Given the description of an element on the screen output the (x, y) to click on. 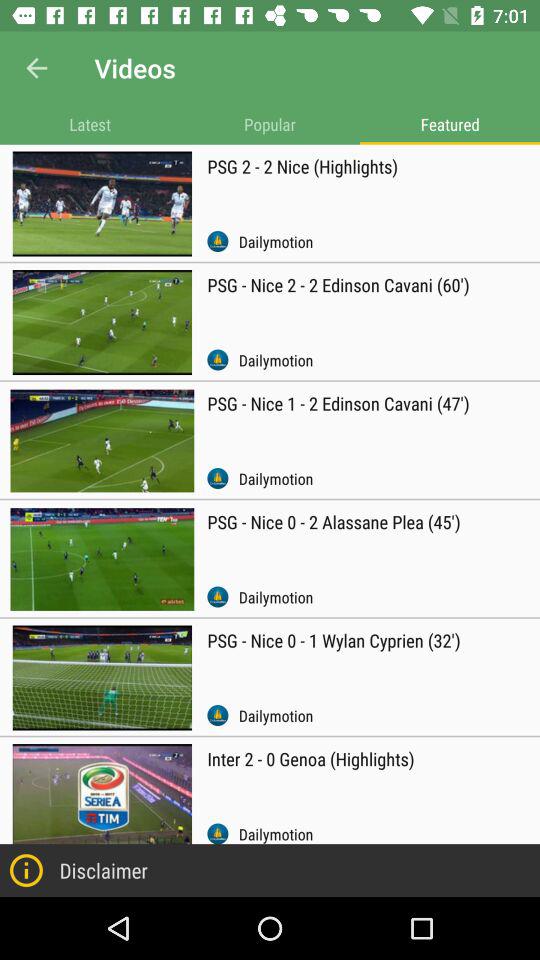
open popular (270, 124)
